Given the description of an element on the screen output the (x, y) to click on. 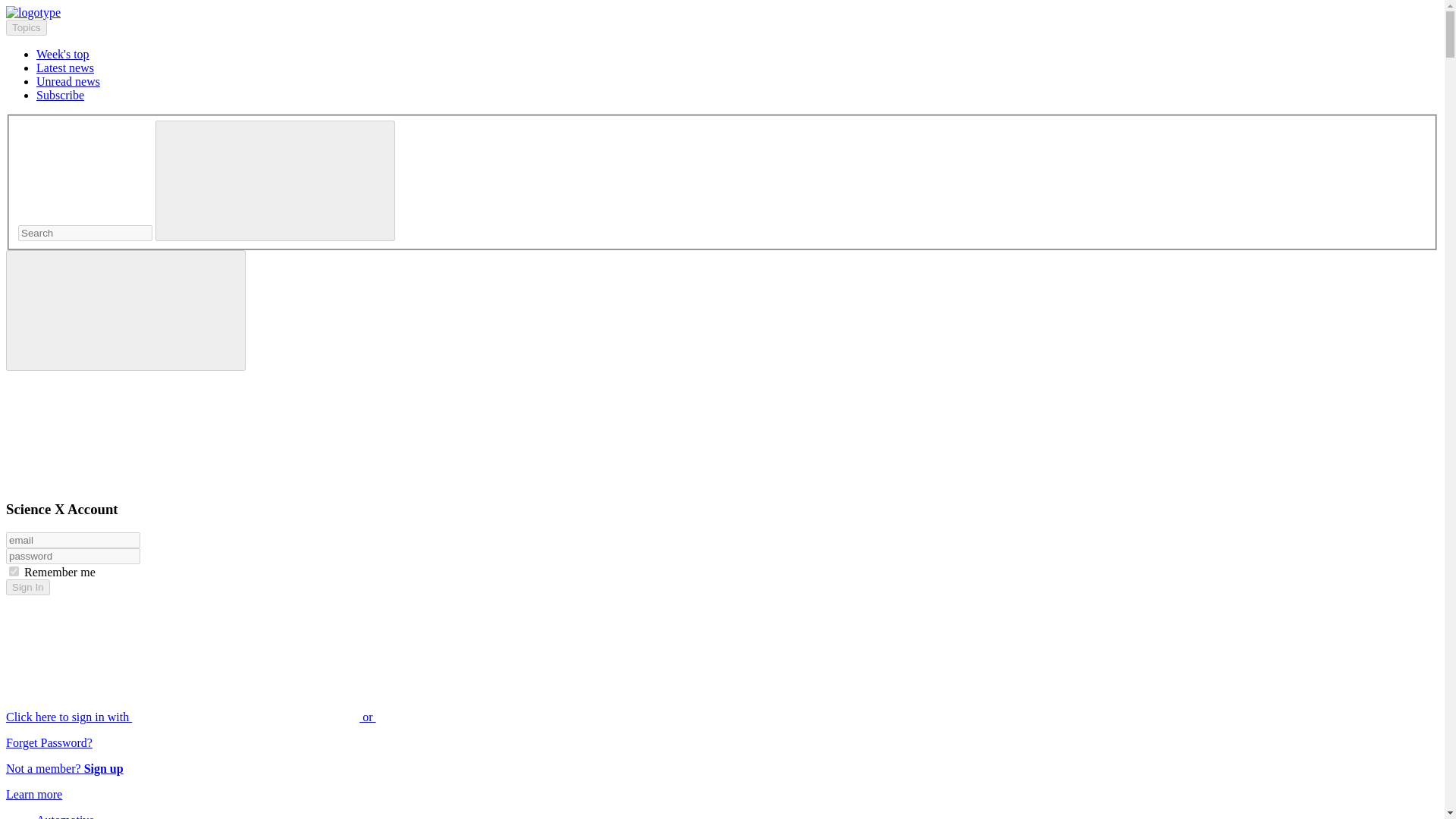
Not a member? Sign up (64, 768)
Topics (25, 27)
Unread news (68, 81)
Click here to sign in with or (304, 716)
Forget Password? (49, 742)
Sign In (27, 587)
Week's top (62, 53)
on (13, 571)
Latest news (65, 67)
Subscribe (60, 94)
